Given the description of an element on the screen output the (x, y) to click on. 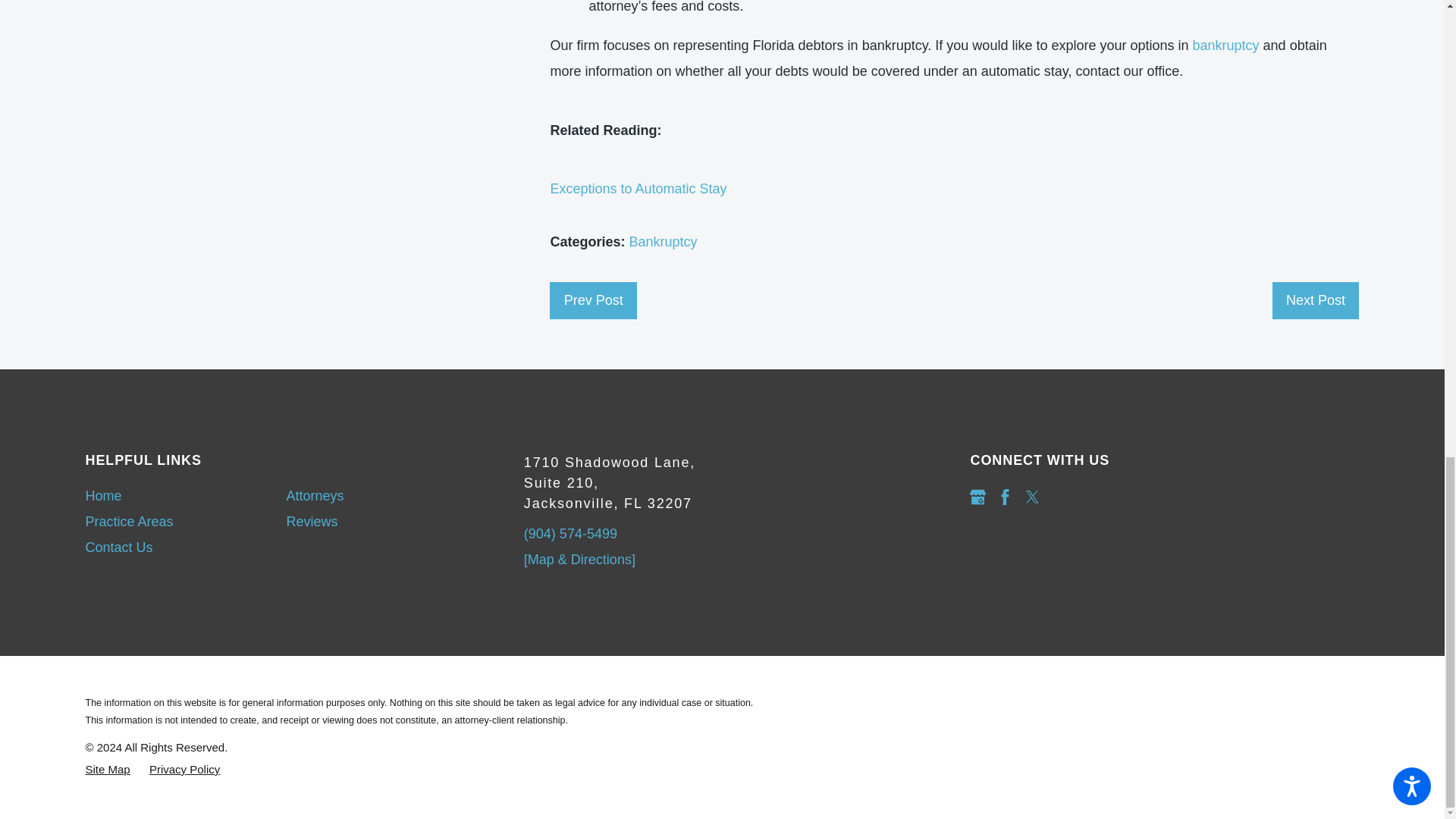
Twitter (1033, 496)
Google Business Profile (977, 496)
Facebook (1005, 496)
